Given the description of an element on the screen output the (x, y) to click on. 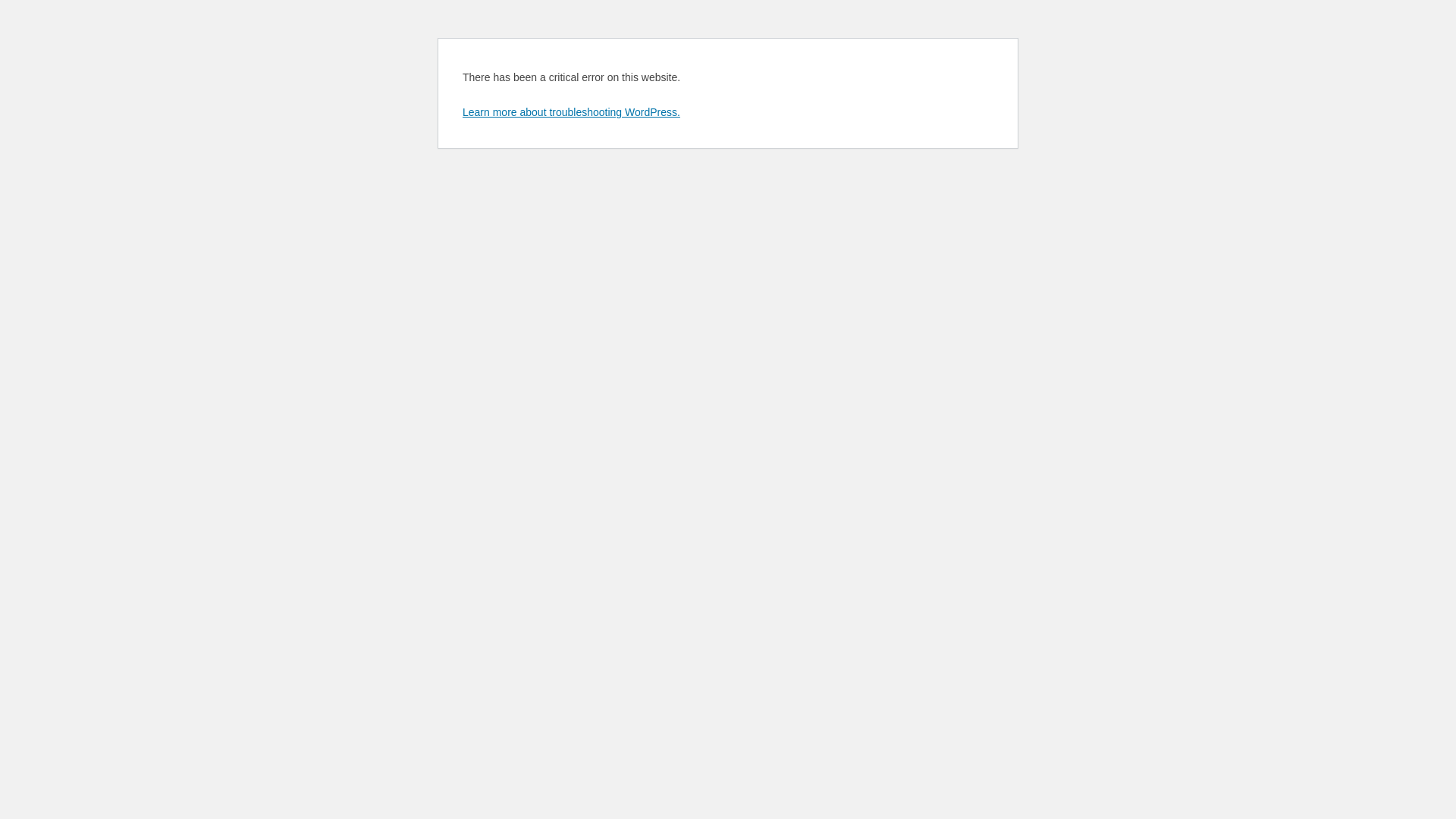
Learn more about troubleshooting WordPress. Element type: text (571, 112)
